Given the description of an element on the screen output the (x, y) to click on. 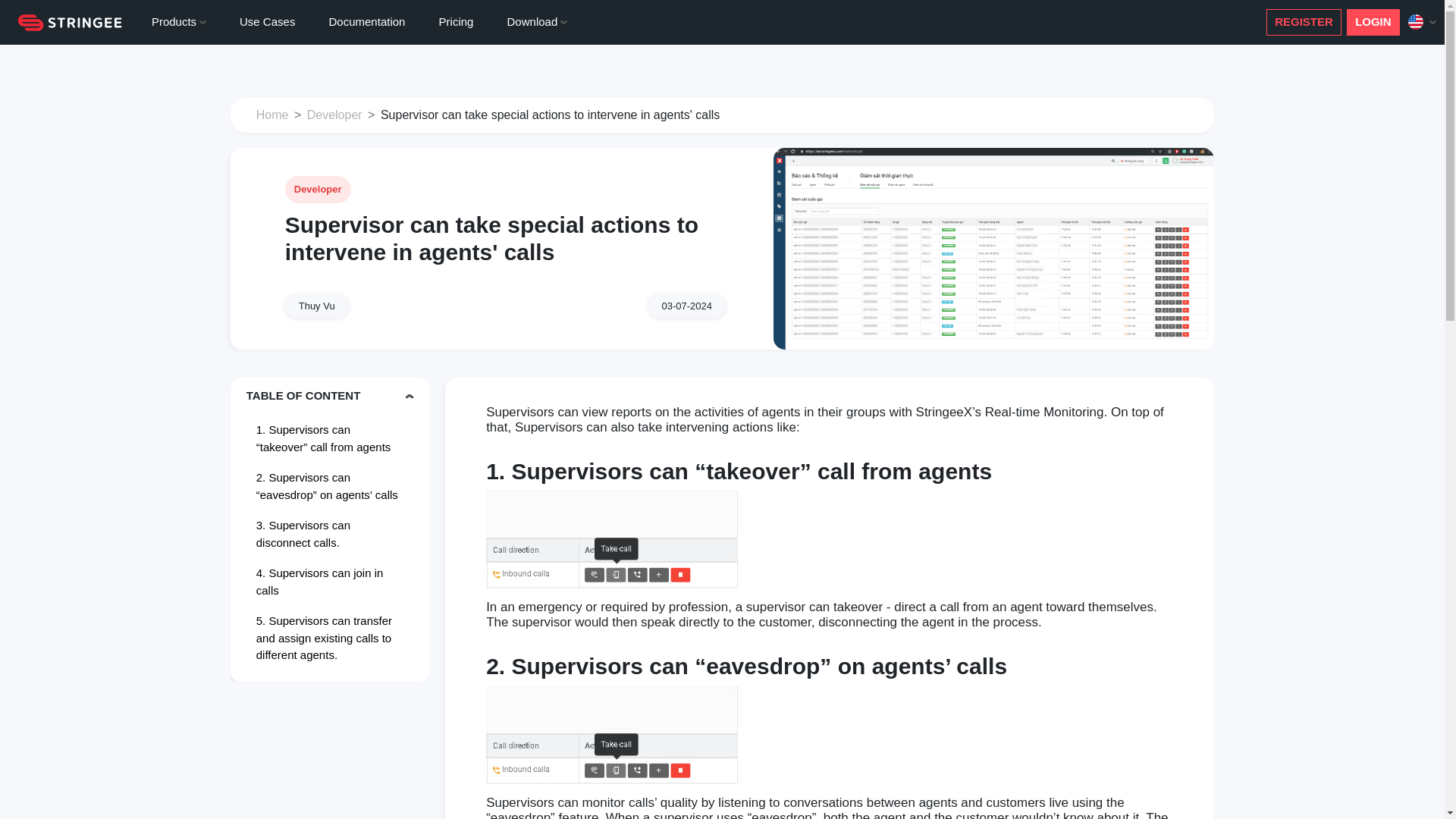
Home (272, 114)
LOGIN (1372, 22)
REGISTER (1303, 22)
TABLE OF CONTENT (329, 395)
Documentation (365, 22)
Pricing (455, 22)
4. Supervisors can join in calls (329, 581)
Logo Stringee (69, 22)
Use Cases (266, 22)
